Given the description of an element on the screen output the (x, y) to click on. 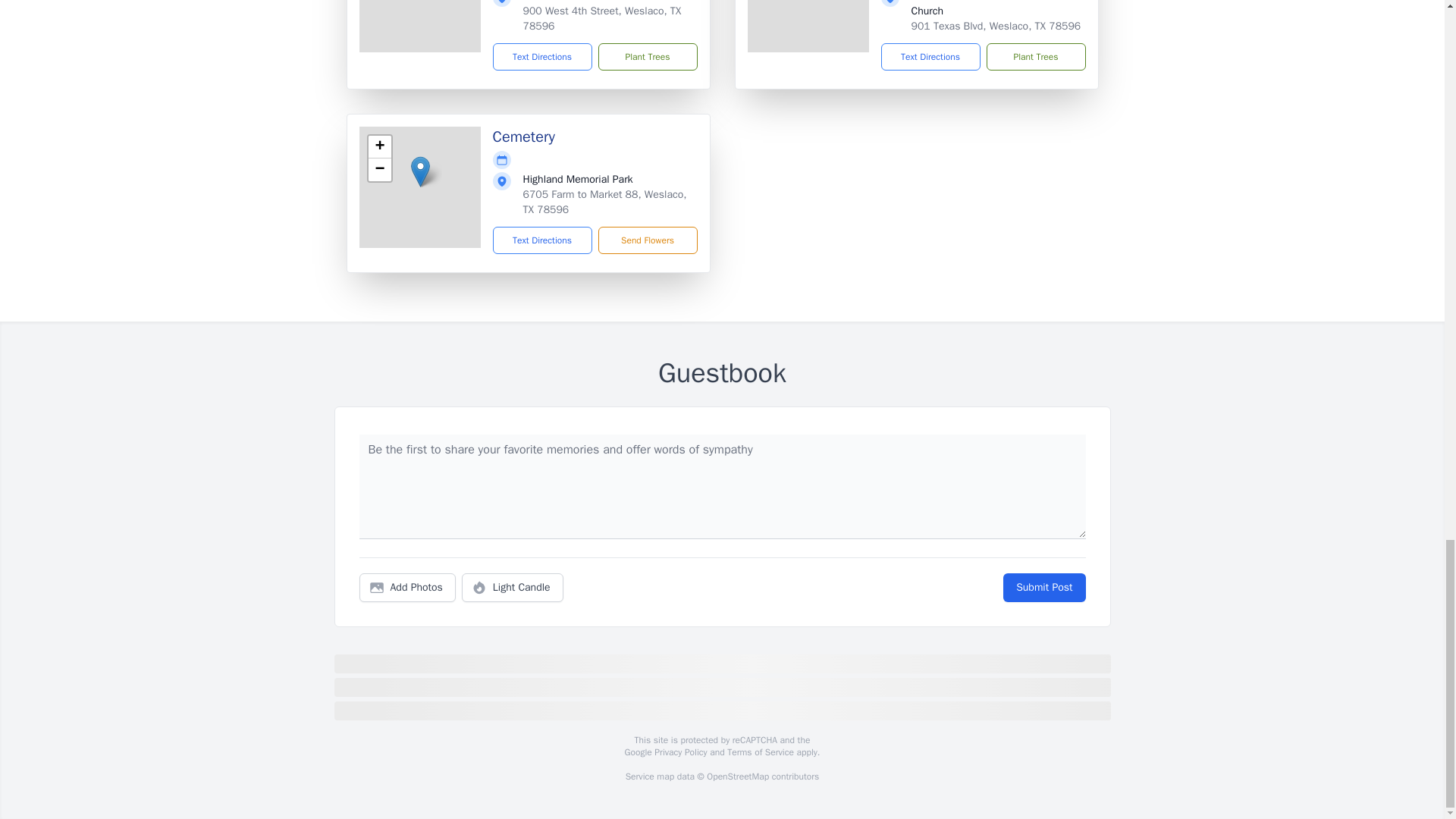
Zoom in (379, 146)
Zoom out (379, 169)
Text Directions (542, 56)
900 West 4th Street, Weslaco, TX 78596 (601, 18)
Plant Trees (646, 56)
